Given the description of an element on the screen output the (x, y) to click on. 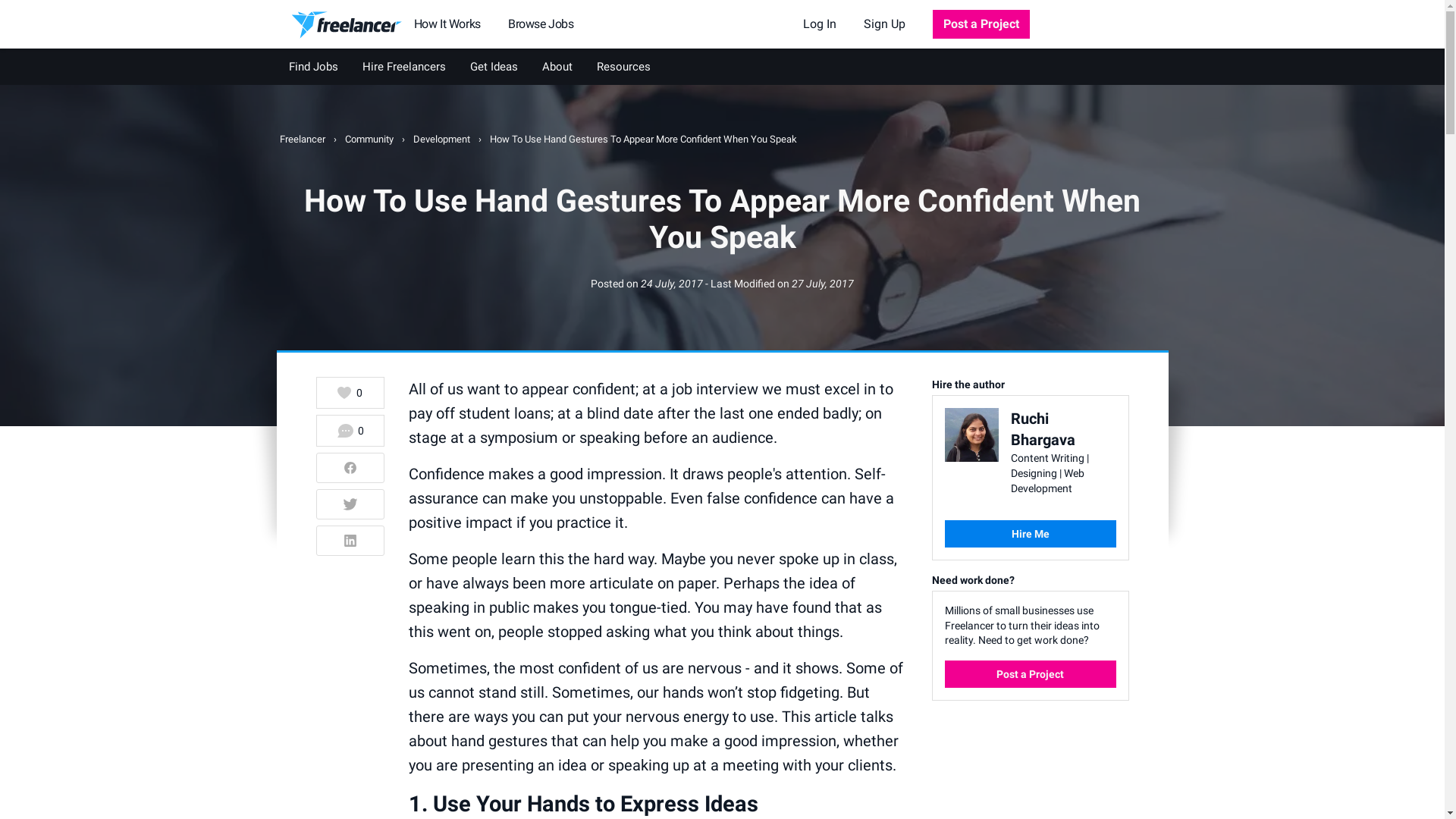
Visit the Author's profile Element type: hover (971, 430)
Share on Facebook Element type: hover (349, 467)
Get Ideas Element type: text (493, 66)
Sign Up Element type: text (883, 23)
Share on LinkedIn Element type: hover (349, 540)
Hire Me Element type: text (1030, 533)
Hire Freelancers Element type: text (403, 66)
Ruchi Bhargava Element type: text (1042, 428)
Browse Jobs Element type: text (541, 24)
Freelancer Element type: text (302, 138)
Share on Twitter Element type: hover (349, 504)
Post a Project Element type: text (1030, 673)
Log In Element type: text (818, 23)
Find Jobs Element type: text (312, 66)
Development Element type: text (441, 138)
Post a Project Element type: text (980, 23)
0 Element type: text (349, 430)
About Element type: text (556, 66)
Community Element type: text (369, 138)
Resources Element type: text (622, 66)
How It Works Element type: text (447, 24)
